Given the description of an element on the screen output the (x, y) to click on. 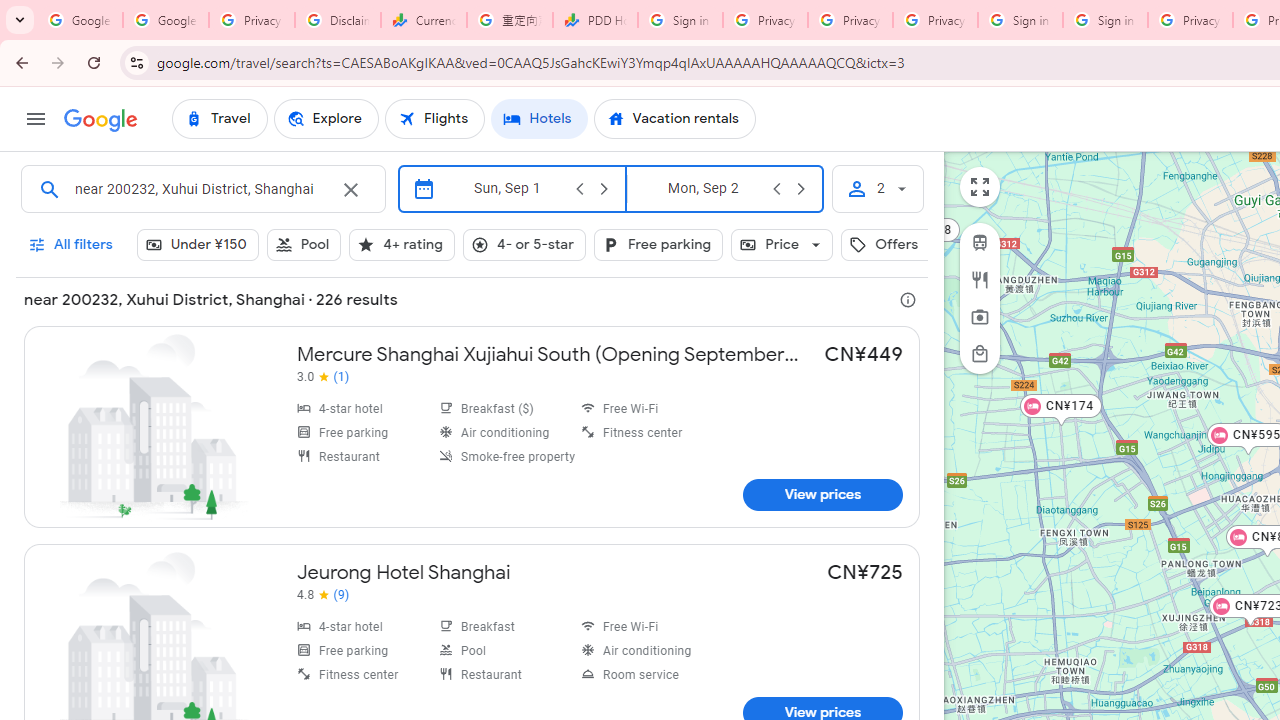
Sign in - Google Accounts (1020, 20)
Mercure Shanghai Xujiahui South (Opening September 2019) (472, 426)
4- or 5-star, Hotel class, Not selected (524, 244)
Check-out (703, 188)
Flights (435, 118)
Price, Not selected (782, 244)
Google Workspace Admin Community (79, 20)
Sign in - Google Accounts (1105, 20)
Currencies - Google Finance (424, 20)
Search for places, hotels and more (200, 188)
